Given the description of an element on the screen output the (x, y) to click on. 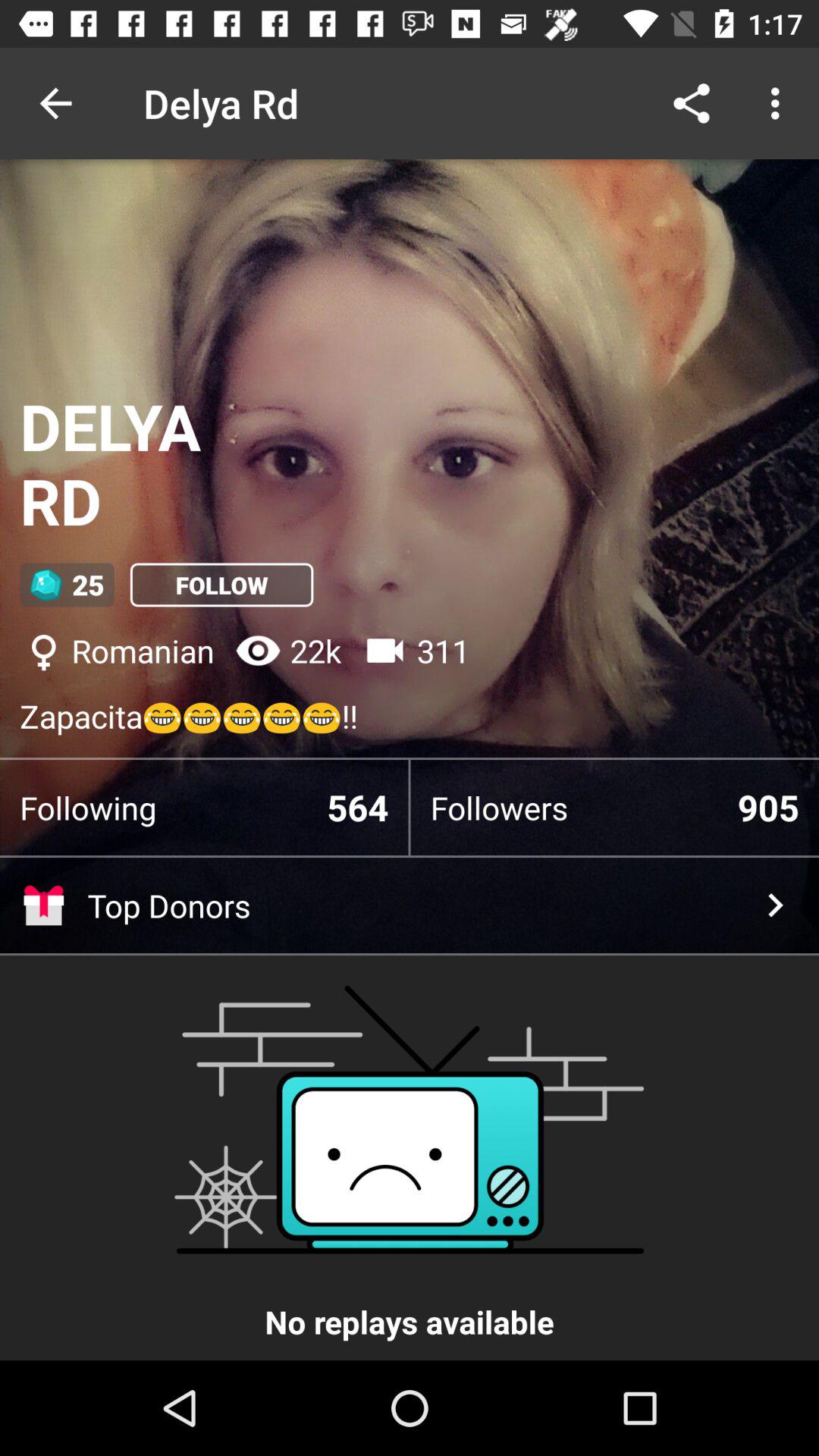
jump until the no replays available item (409, 1160)
